Given the description of an element on the screen output the (x, y) to click on. 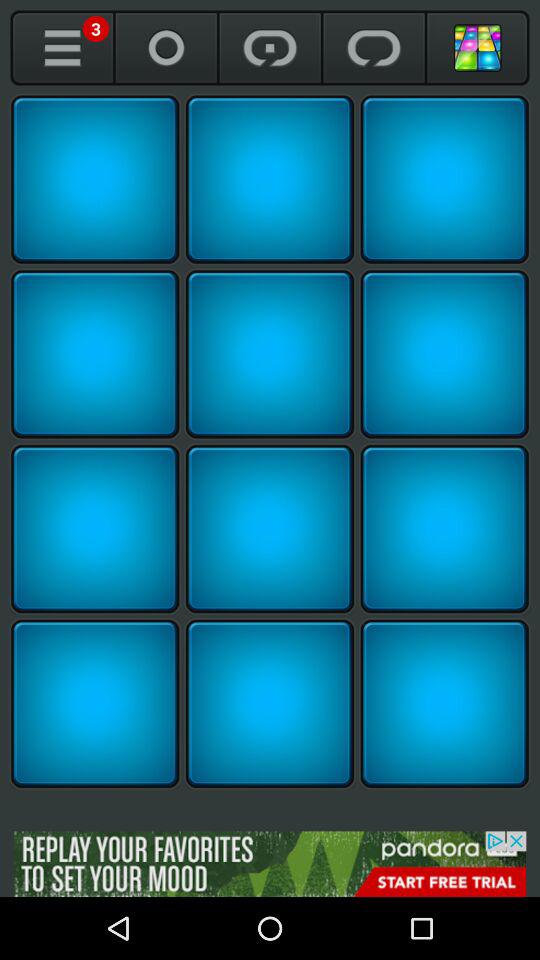
toggle color tile (95, 354)
